Given the description of an element on the screen output the (x, y) to click on. 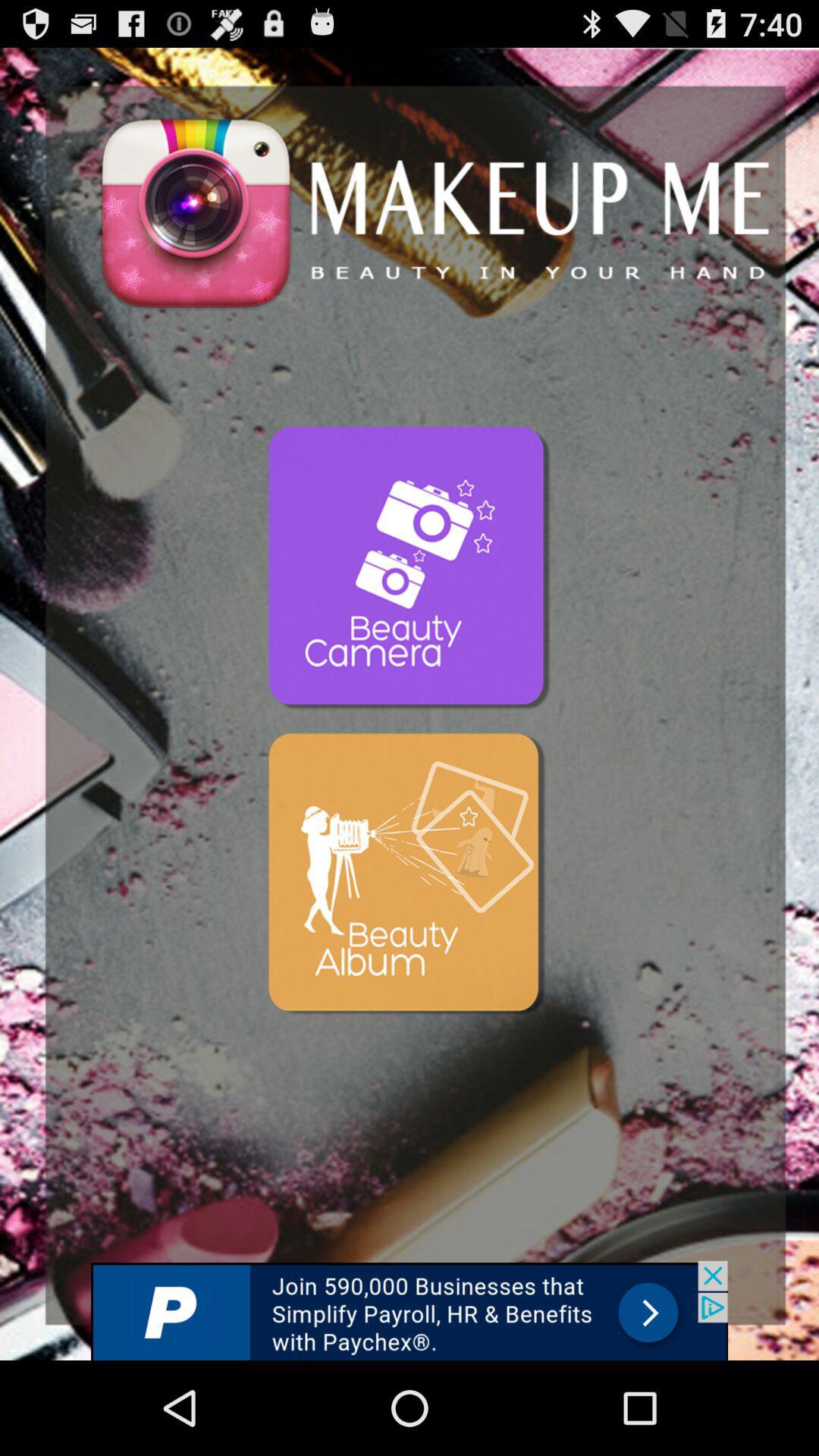
advertisement (409, 875)
